Given the description of an element on the screen output the (x, y) to click on. 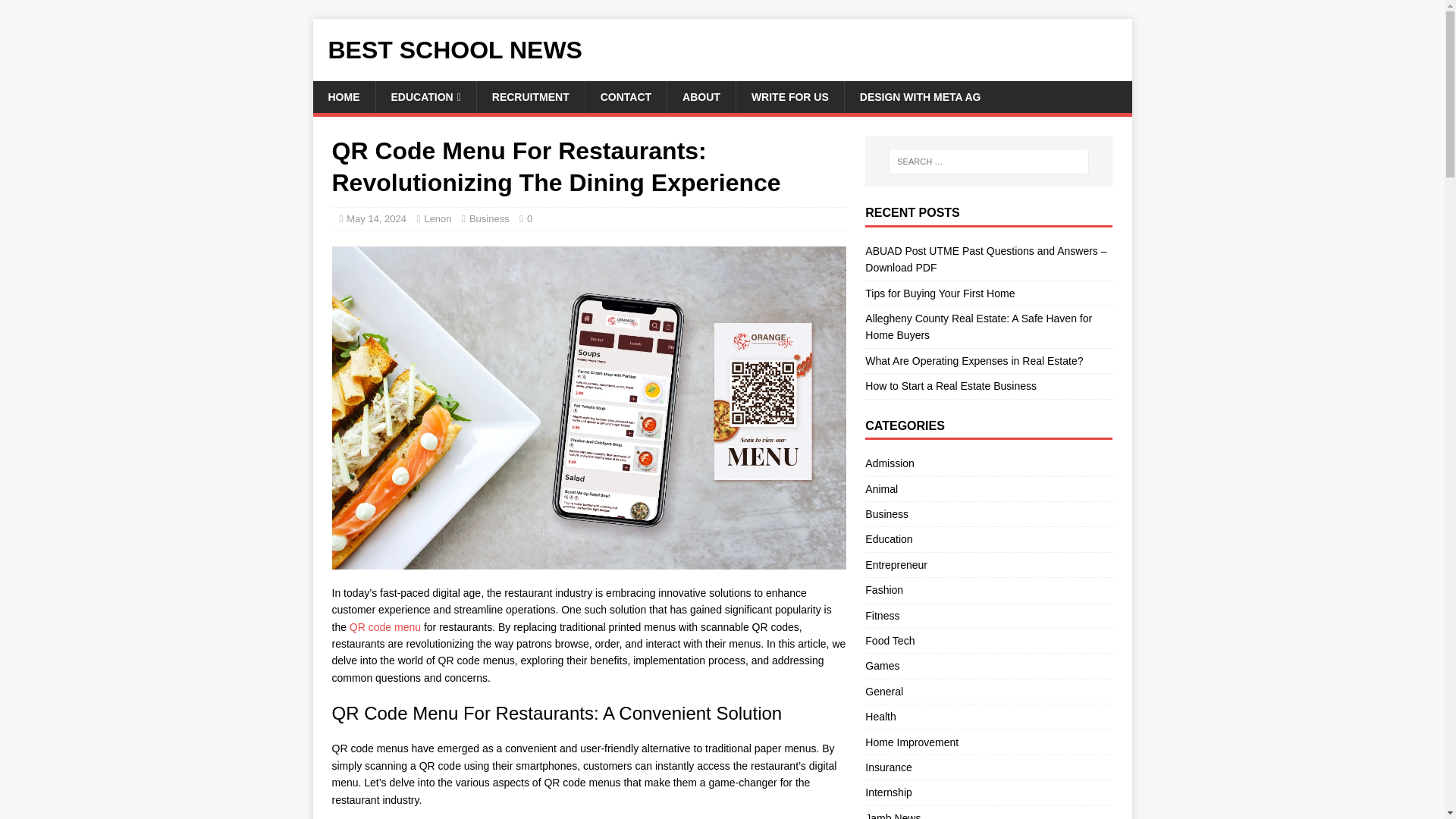
HOME (343, 97)
BEST SCHOOL NEWS (721, 49)
Lenon (437, 218)
WRITE FOR US (789, 97)
QR code menu (384, 626)
Business (488, 218)
RECRUITMENT (530, 97)
EDUCATION (425, 97)
Best School News (721, 49)
ABOUT (700, 97)
CONTACT (625, 97)
DESIGN WITH META AG (919, 97)
May 14, 2024 (376, 218)
